Given the description of an element on the screen output the (x, y) to click on. 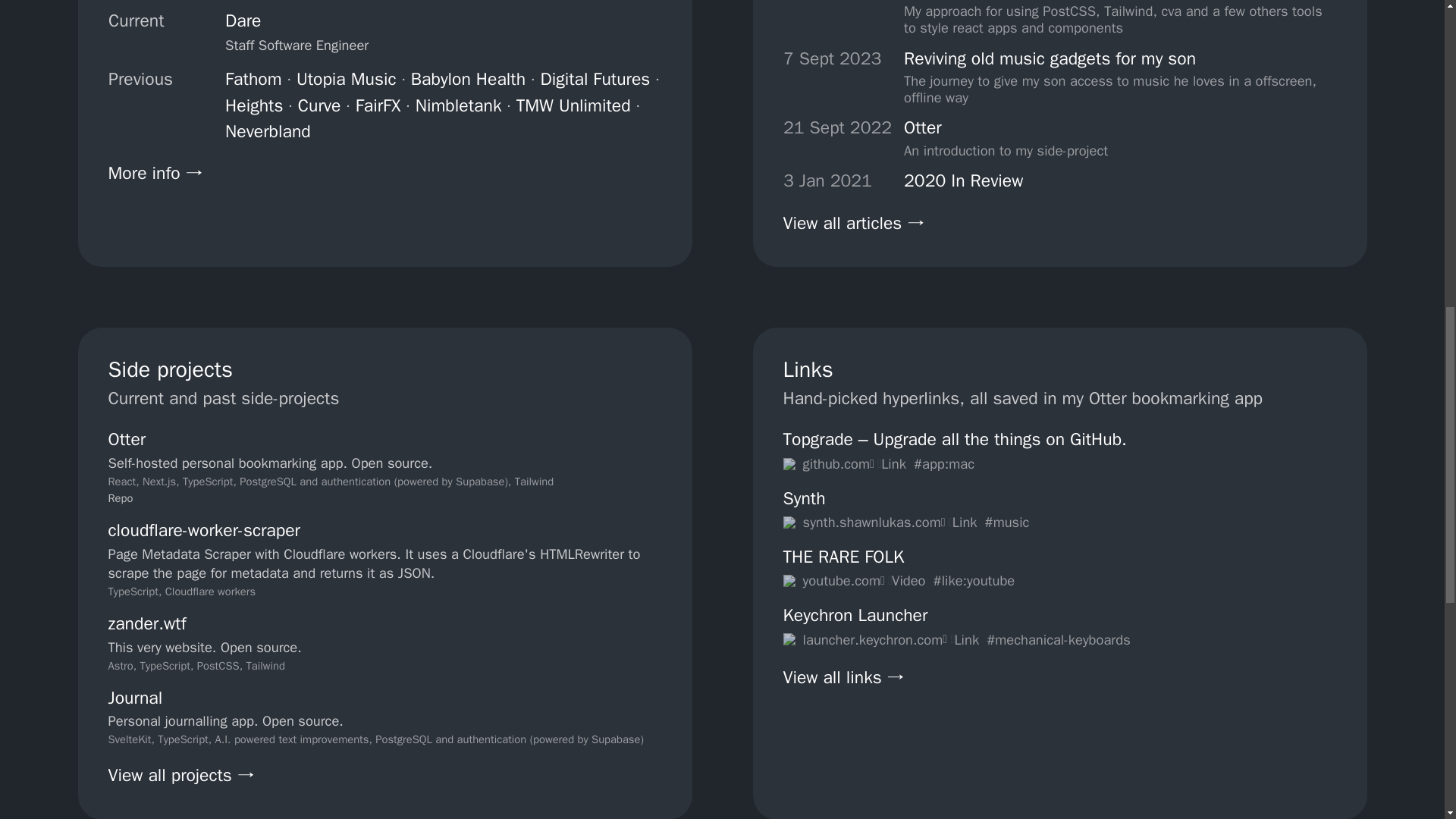
Reviving old music gadgets for my son (1120, 58)
2020 In Review (963, 180)
Babylon Health (467, 78)
Otter (126, 439)
Dare (242, 20)
Synth (804, 498)
Otter (1006, 127)
FairFX (377, 105)
TMW Unlimited (572, 105)
cloudflare-worker-scraper (203, 530)
Utopia Music (345, 78)
Neverbland (268, 131)
Digital Futures (594, 78)
Repo (119, 498)
Heights (253, 105)
